Given the description of an element on the screen output the (x, y) to click on. 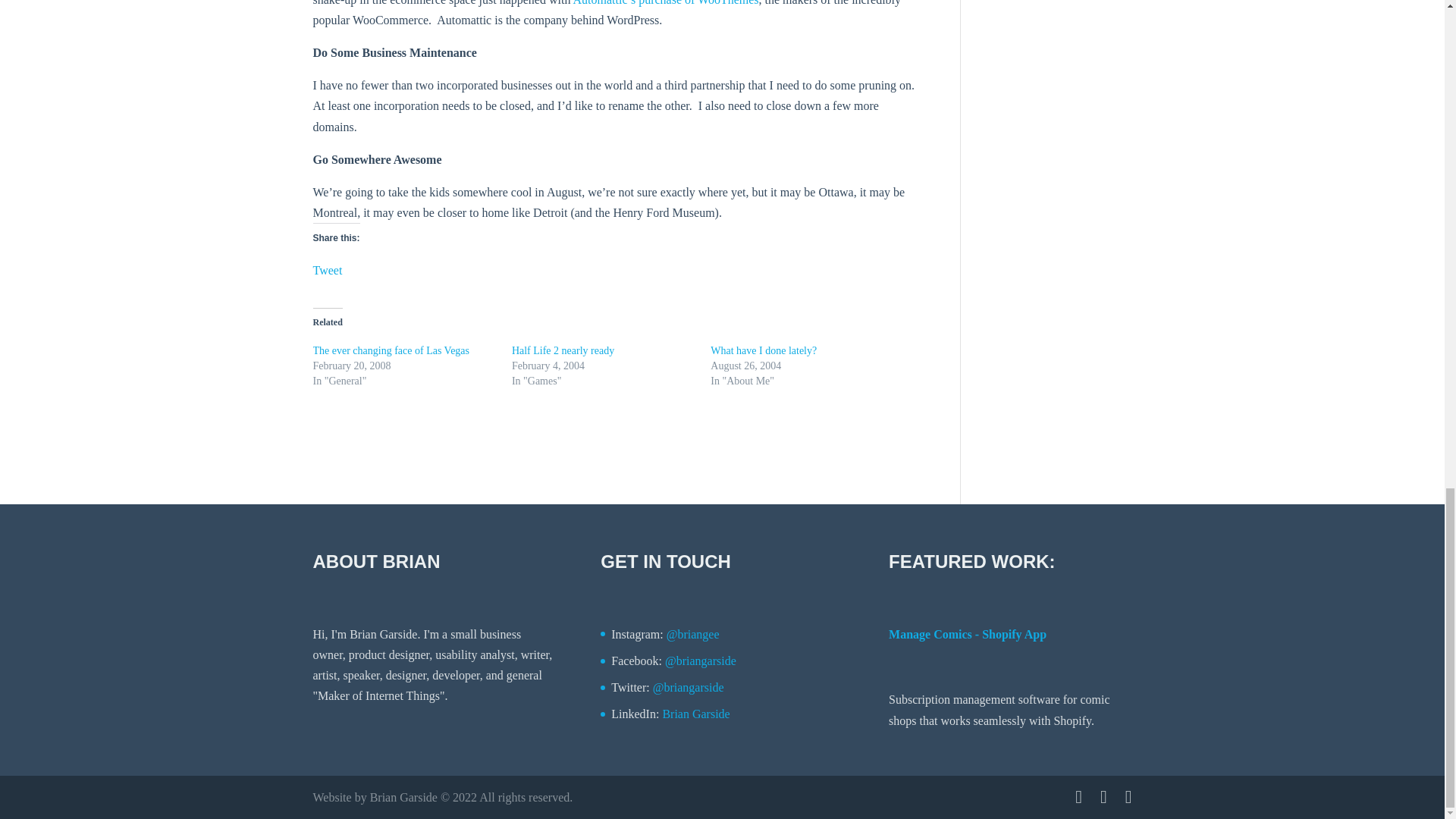
Half Life 2 nearly ready (563, 350)
What have I done lately? (763, 350)
Tweet (327, 267)
Brian Garside (695, 713)
What have I done lately? (763, 350)
The ever changing face of Las Vegas (390, 350)
The ever changing face of Las Vegas (390, 350)
Manage Comics - Shopify App (967, 634)
Half Life 2 nearly ready (563, 350)
